Given the description of an element on the screen output the (x, y) to click on. 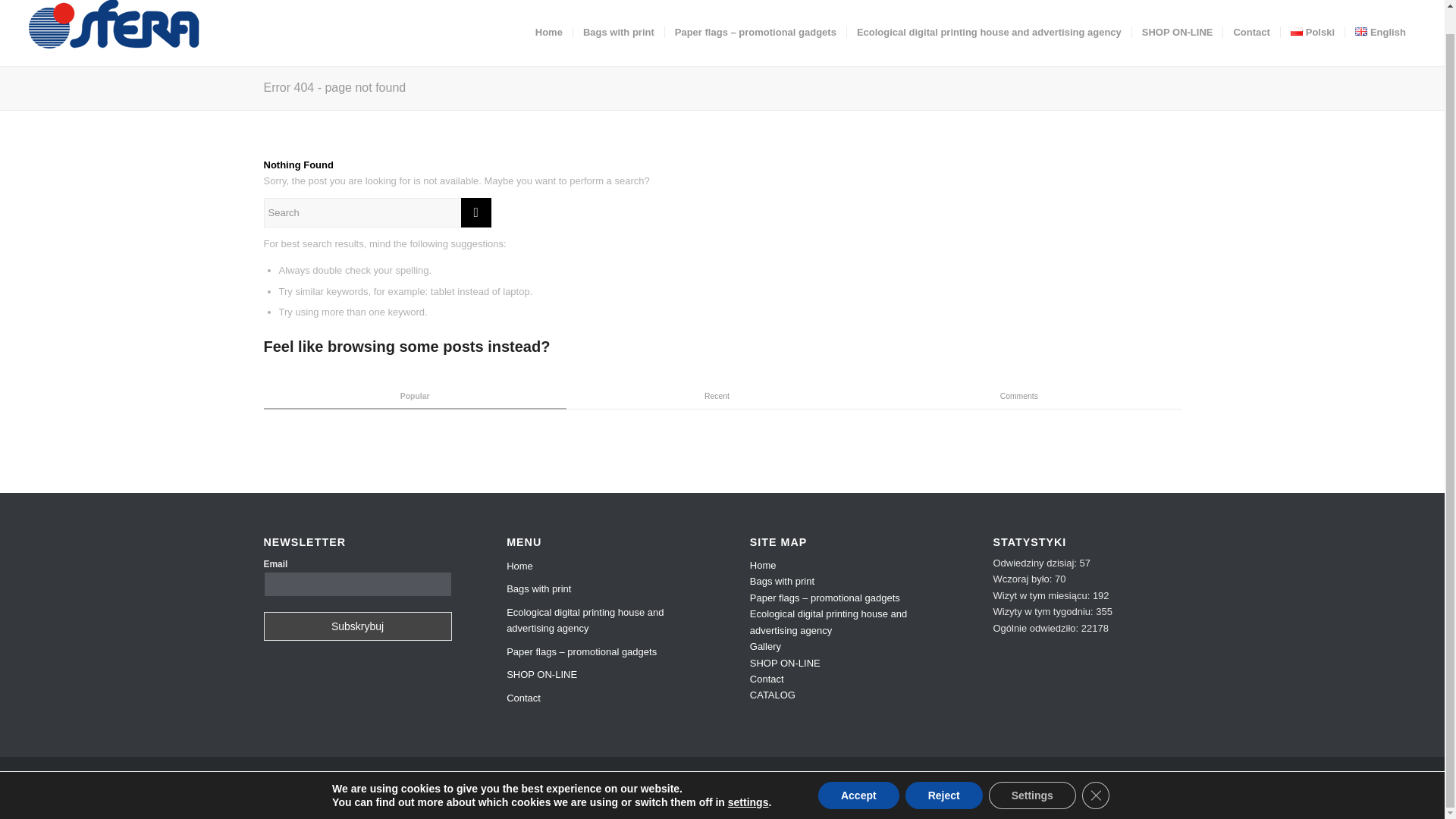
English (1379, 33)
DHI Hair Transplant (1299, 807)
Ecological digital printing house and advertising agency (988, 33)
Home (600, 566)
Polski (1311, 33)
Bags with print (600, 589)
SHOP ON-LINE (600, 674)
Hair Transplant Istanbul (1195, 807)
Subskrybuj (357, 625)
Ecological digital printing house and advertising agency (600, 620)
Home (762, 564)
Subskrybuj (357, 625)
Contact (600, 698)
Bags with print (617, 33)
SHOP ON-LINE (1177, 33)
